Given the description of an element on the screen output the (x, y) to click on. 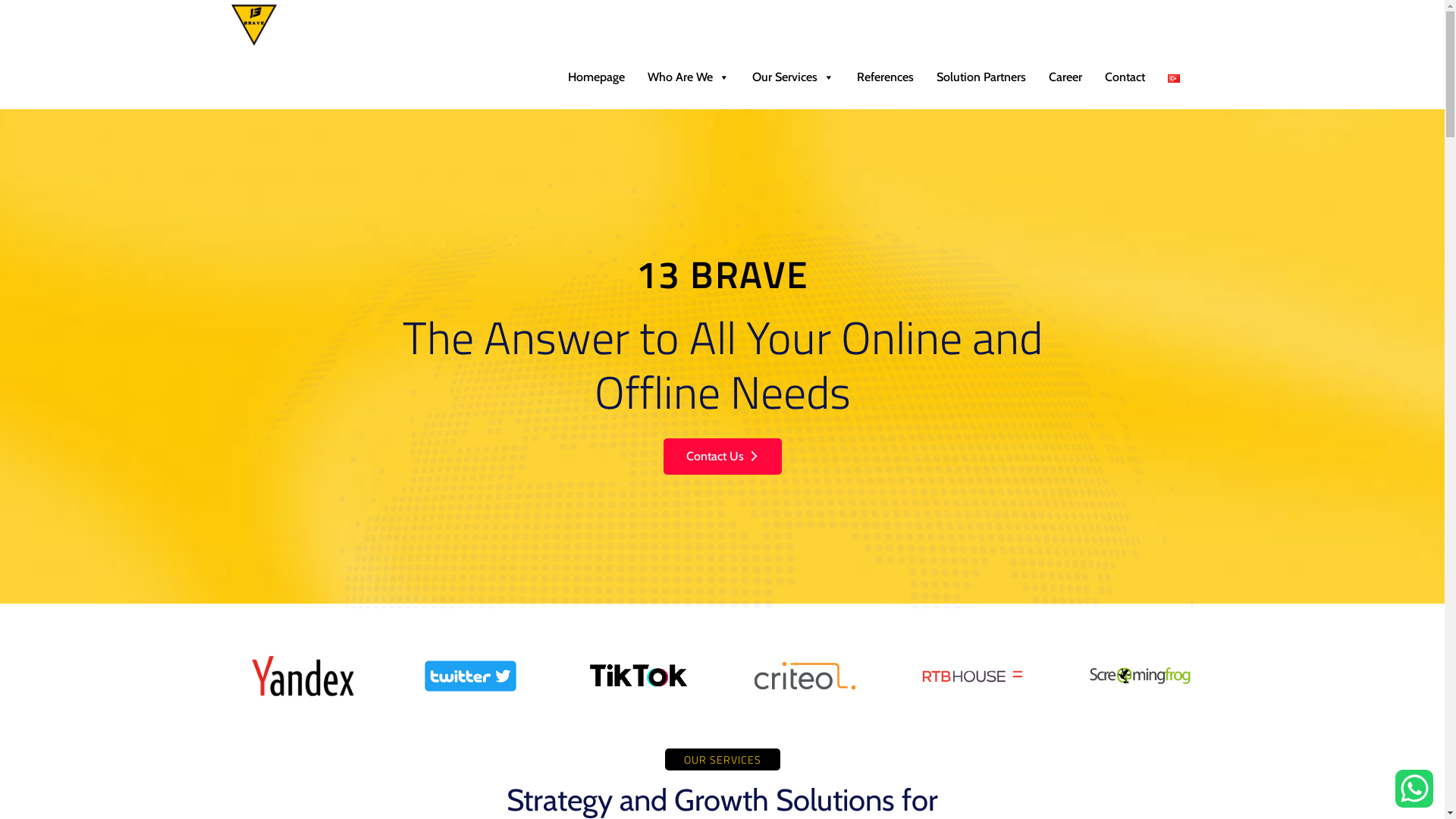
Who Are We Element type: text (687, 77)
Our Services Element type: text (792, 77)
References Element type: text (884, 77)
Contact Us Element type: text (721, 456)
Contact Element type: text (1124, 77)
Career Element type: text (1065, 77)
Solution Partners Element type: text (981, 77)
Homepage Element type: text (596, 77)
